Given the description of an element on the screen output the (x, y) to click on. 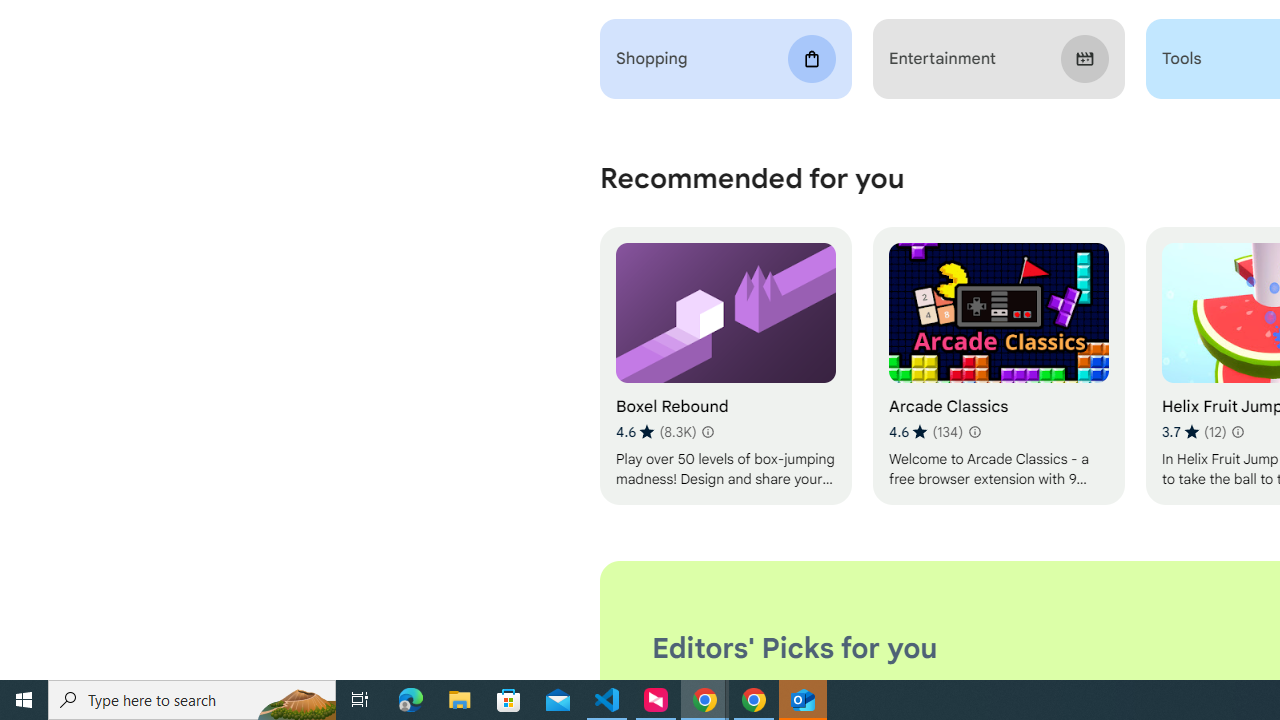
Entertainment (998, 59)
Average rating 3.7 out of 5 stars. 12 ratings. (1193, 431)
Arcade Classics (998, 366)
Boxel Rebound (725, 366)
Average rating 4.6 out of 5 stars. 134 ratings. (925, 431)
Learn more about results and reviews "Boxel Rebound" (707, 431)
Learn more about results and reviews "Arcade Classics" (973, 431)
Average rating 4.6 out of 5 stars. 8.3K ratings. (655, 431)
Shopping (725, 59)
